Given the description of an element on the screen output the (x, y) to click on. 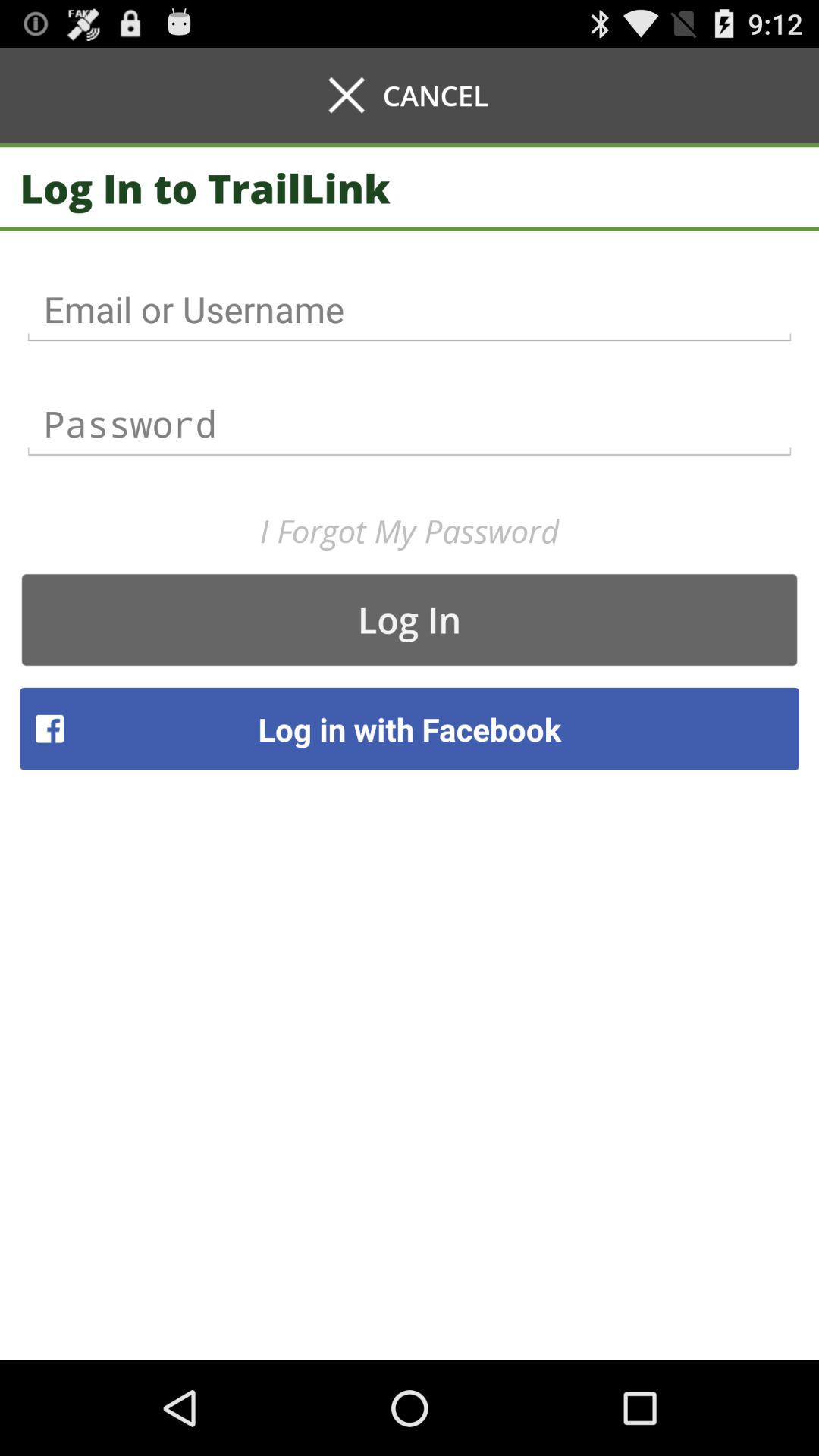
tap the icon above log in (409, 530)
